Given the description of an element on the screen output the (x, y) to click on. 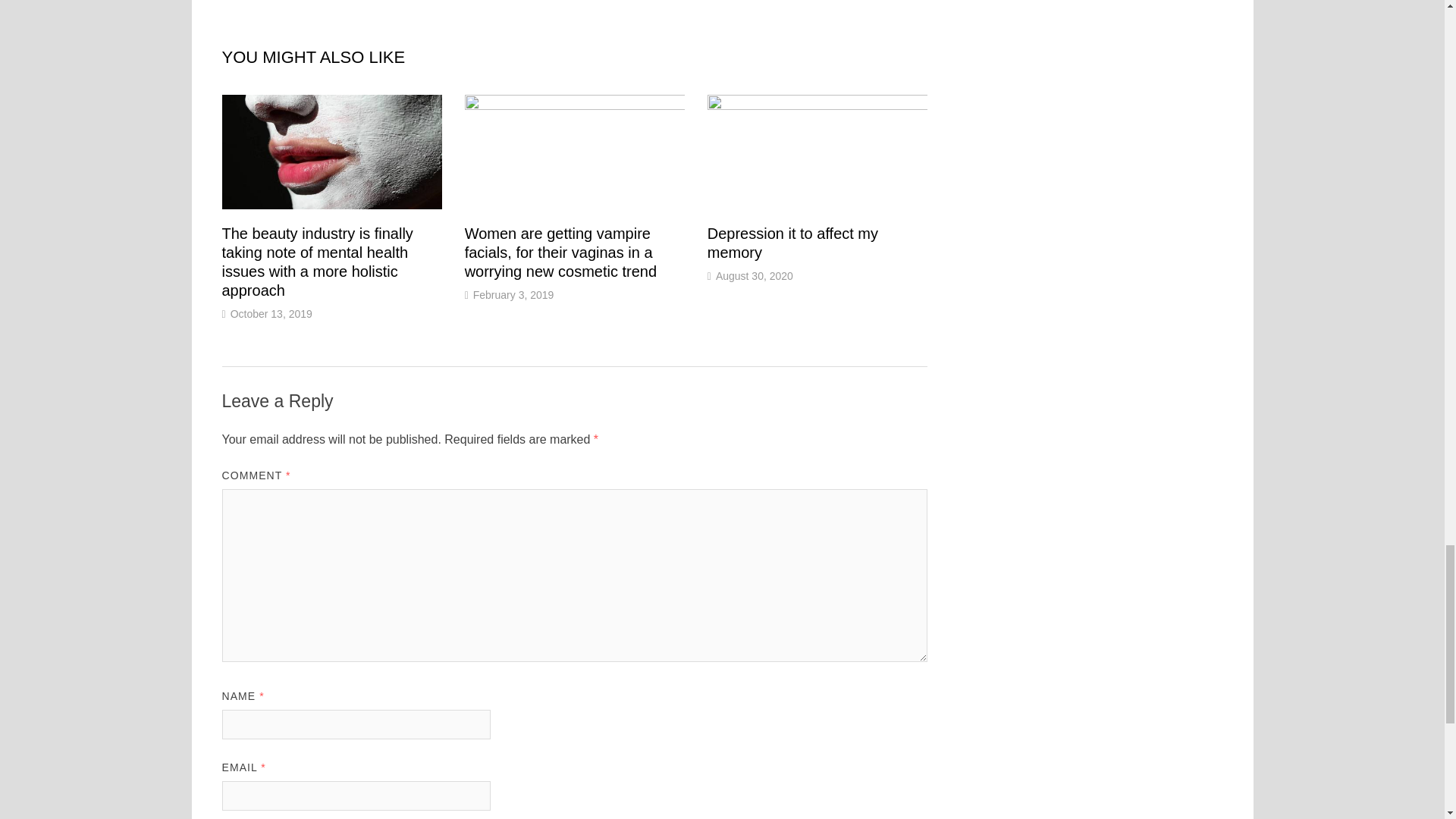
October 13, 2019 (271, 313)
August 30, 2020 (754, 275)
Depression it to affect my memory (792, 243)
Depression it to affect my memory (792, 243)
February 3, 2019 (513, 295)
